Given the description of an element on the screen output the (x, y) to click on. 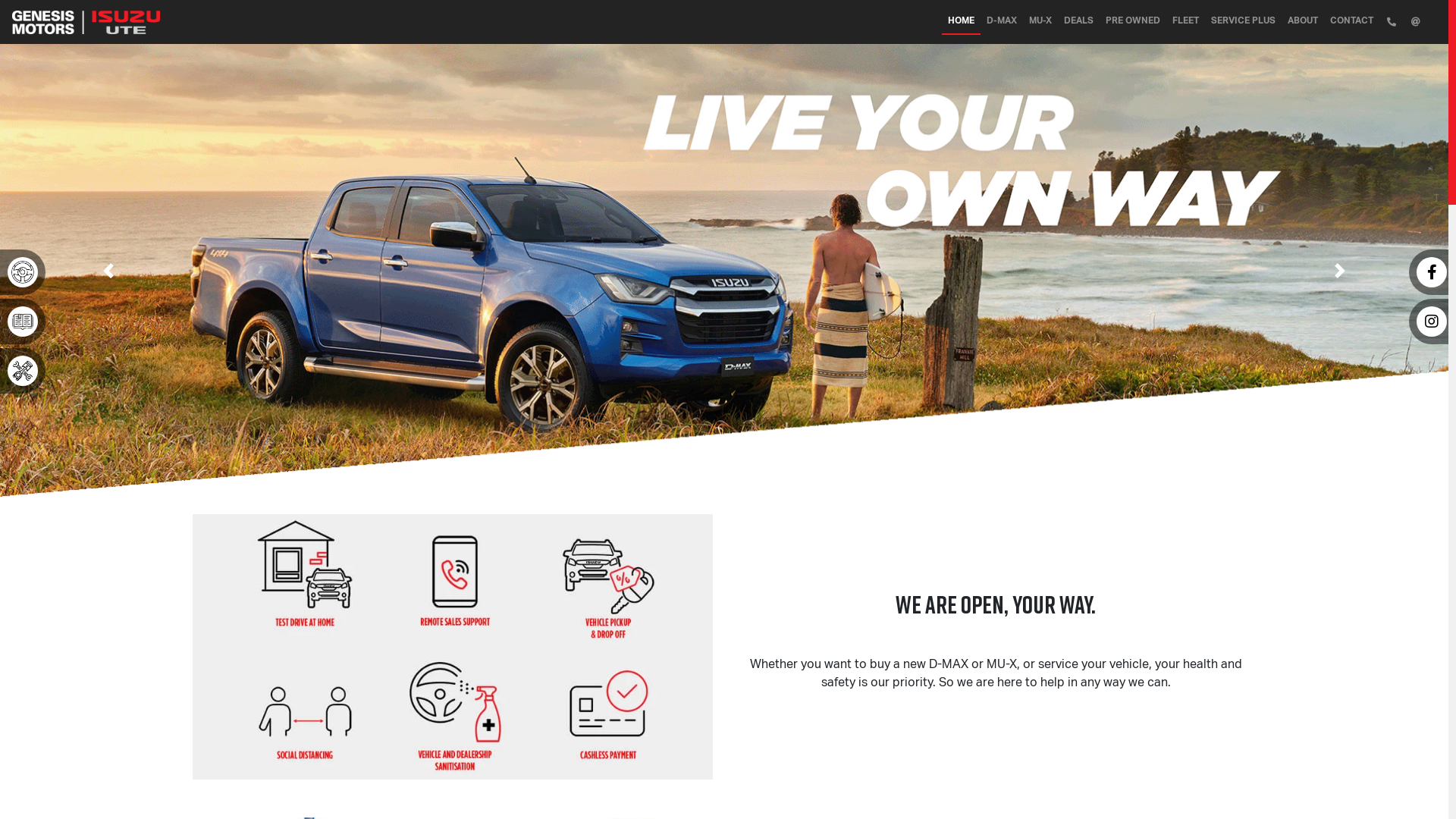
CONTACT Element type: text (1351, 20)
FLEET Element type: text (1185, 20)
D-MAX Element type: text (1001, 20)
ABOUT Element type: text (1302, 20)
Next Element type: text (1340, 269)
HOME Element type: text (960, 20)
PRE OWNED Element type: text (1132, 20)
MU-X Element type: text (1039, 20)
DEALS Element type: text (1078, 20)
SERVICE PLUS Element type: text (1242, 20)
Previous Element type: text (108, 269)
